Given the description of an element on the screen output the (x, y) to click on. 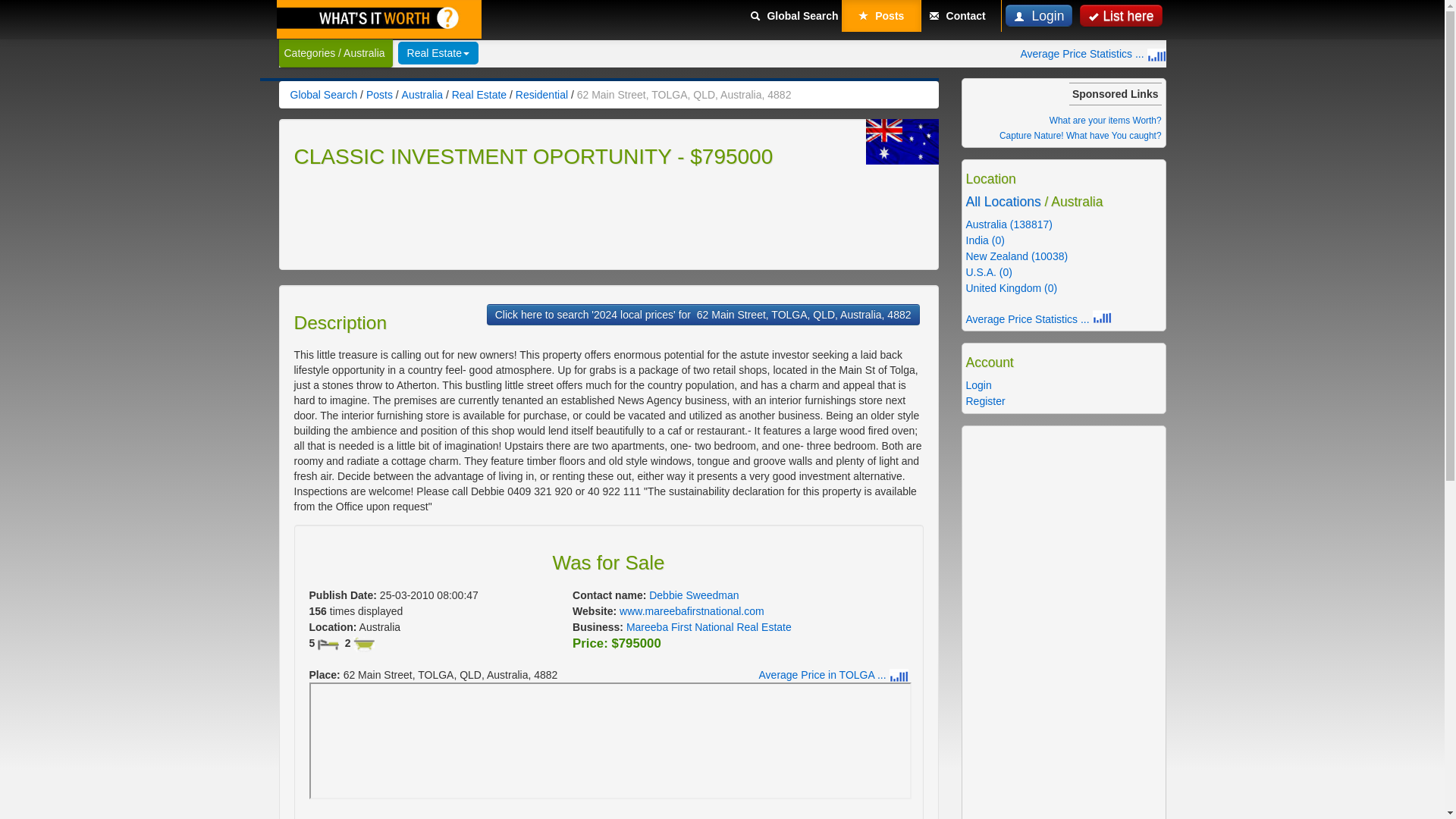
Mareeba First National Real Estate (709, 626)
Average For Sale Prices by Country (1093, 53)
Login (1039, 15)
Global Search (322, 94)
Global Search (794, 15)
What are your items Worth? (1105, 120)
Posts (379, 94)
Residential (541, 94)
Real Estate (478, 94)
Real Estate (438, 52)
Debbie Sweedman (693, 594)
Average Price Statistics ... (1093, 53)
Average Price in TOLGA ... (833, 674)
2 Baths (363, 644)
Advertisement (569, 216)
